Given the description of an element on the screen output the (x, y) to click on. 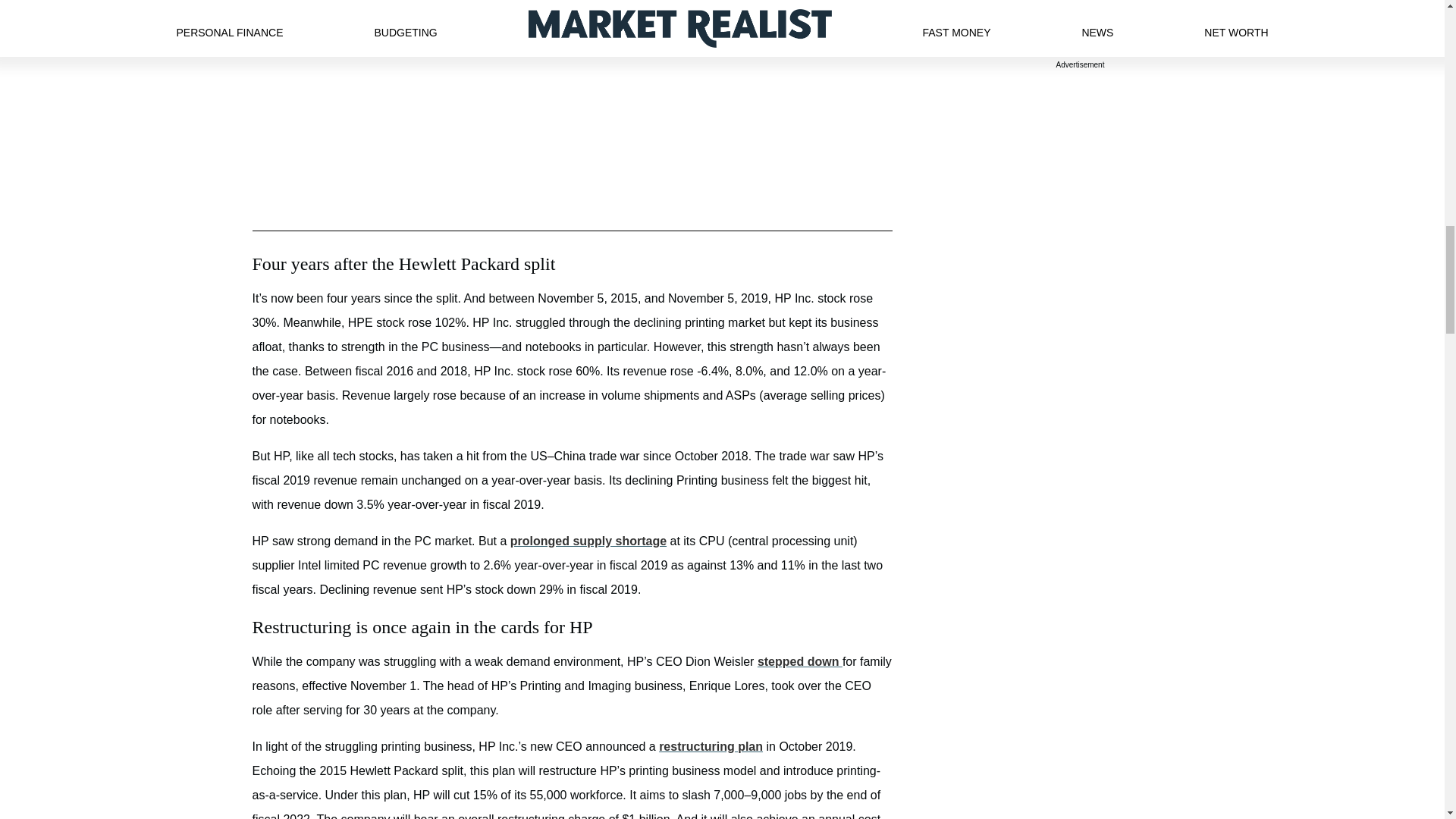
prolonged supply shortage (588, 540)
restructuring plan (710, 746)
stepped down  (800, 661)
